Given the description of an element on the screen output the (x, y) to click on. 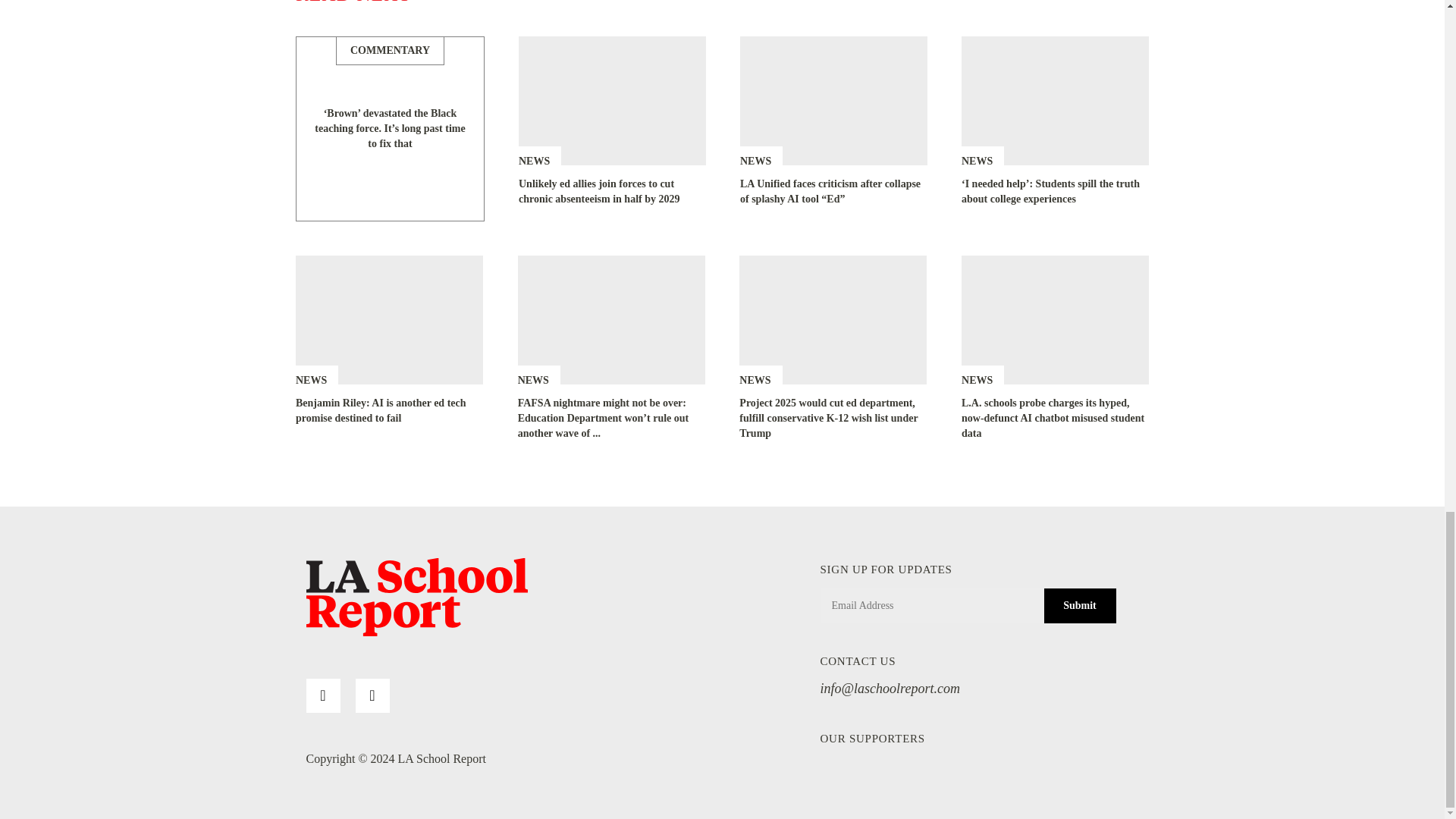
Submit (1079, 605)
